Given the description of an element on the screen output the (x, y) to click on. 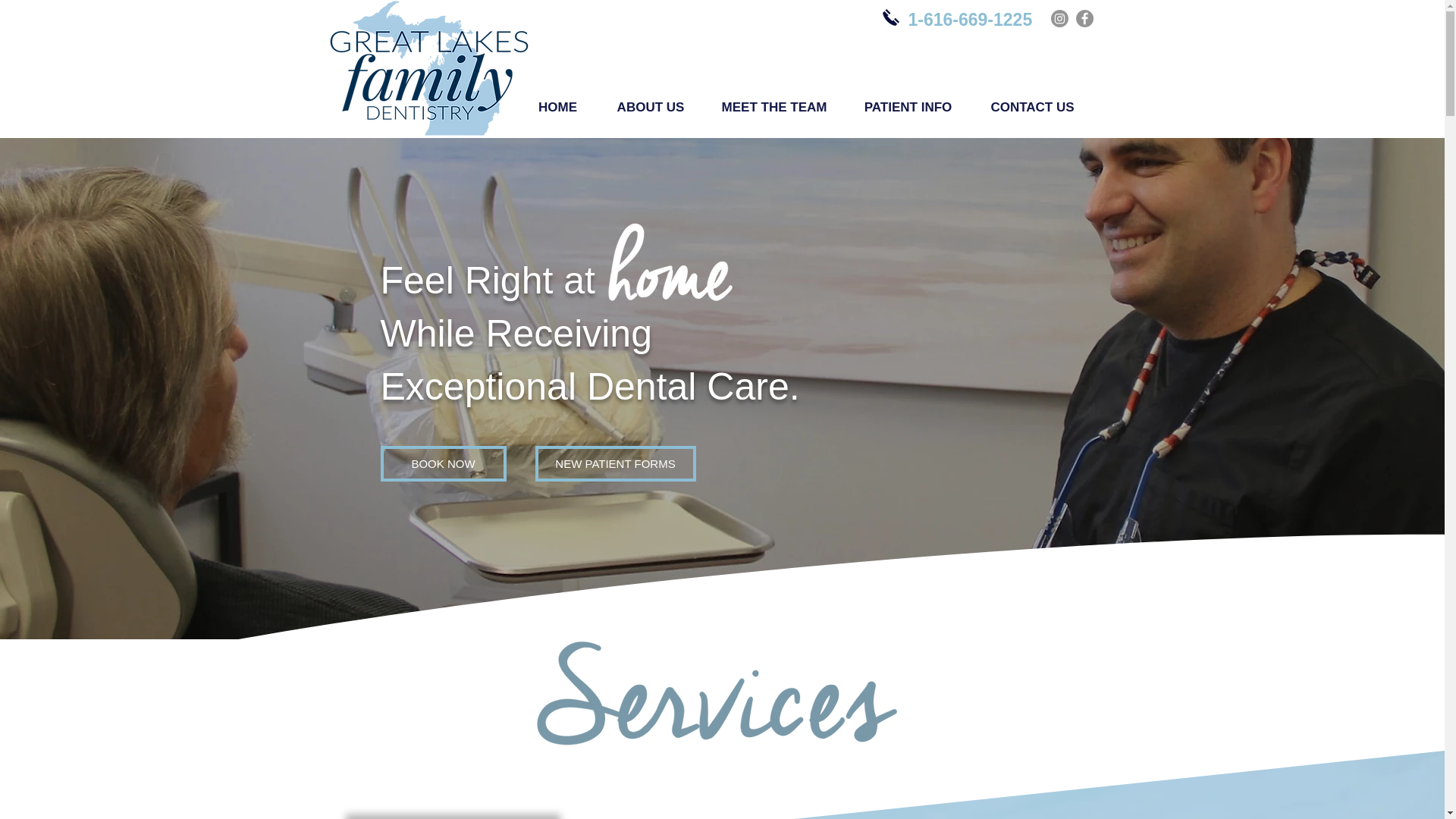
MEET THE TEAM (774, 107)
NEW PATIENT FORMS (615, 463)
CONTACT US (1032, 107)
1-616-669-1225 (970, 19)
HOME (556, 107)
BOOK NOW (443, 463)
